Given the description of an element on the screen output the (x, y) to click on. 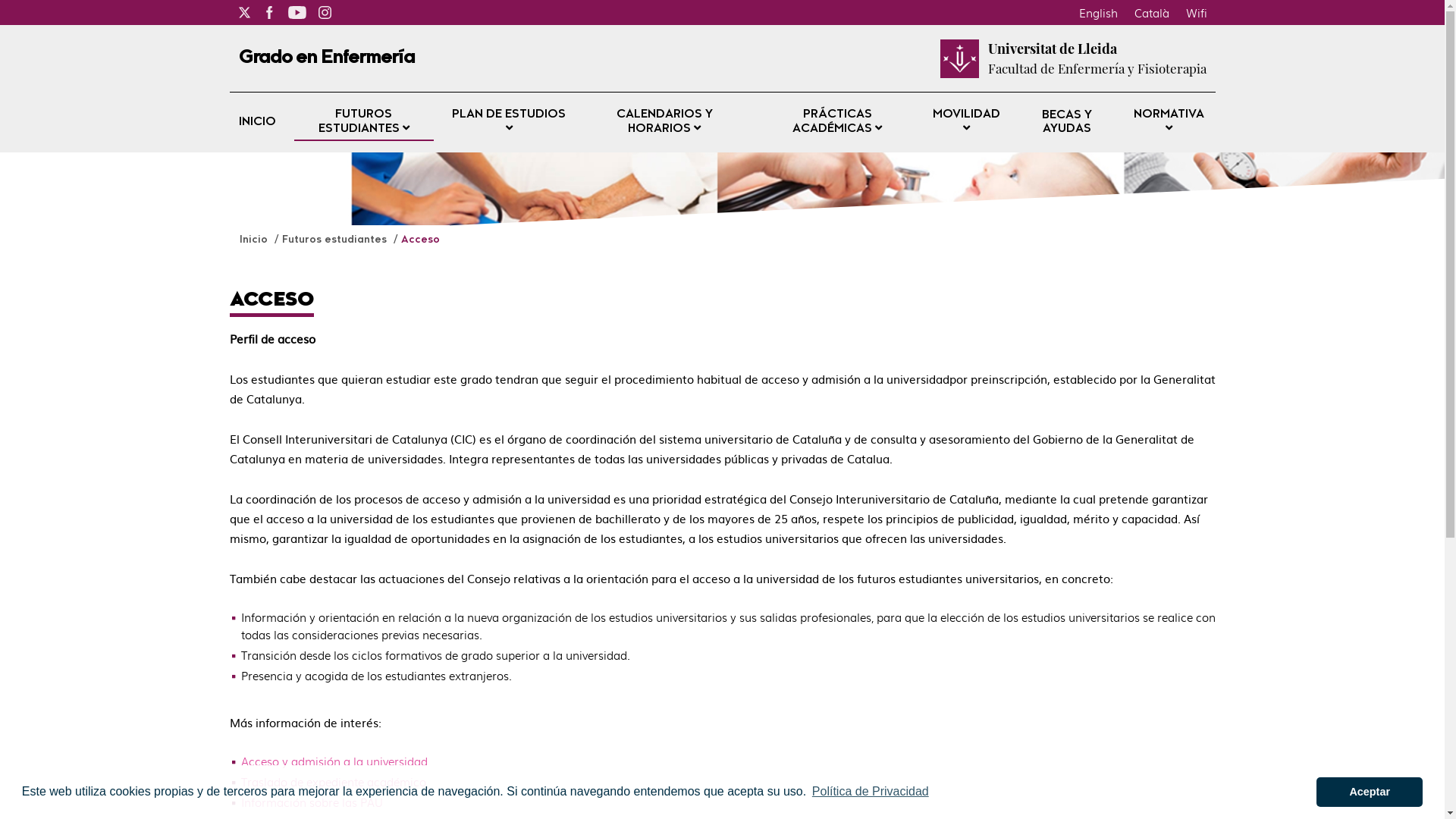
CALENDARIOS Y HORARIOS Element type: text (664, 122)
Acceso Element type: text (419, 239)
INICIO Element type: text (256, 122)
FUTUROS ESTUDIANTES Element type: text (364, 122)
MOVILIDAD Element type: text (965, 122)
NORMATIVA Element type: text (1169, 122)
Inicio Element type: text (254, 239)
Futuros estudiantes Element type: text (335, 239)
BECAS Y AYUDAS Element type: text (1066, 121)
Wifi Element type: text (1195, 12)
Aceptar Element type: text (1369, 791)
English Element type: text (1098, 12)
PLAN DE ESTUDIOS Element type: text (508, 122)
